Given the description of an element on the screen output the (x, y) to click on. 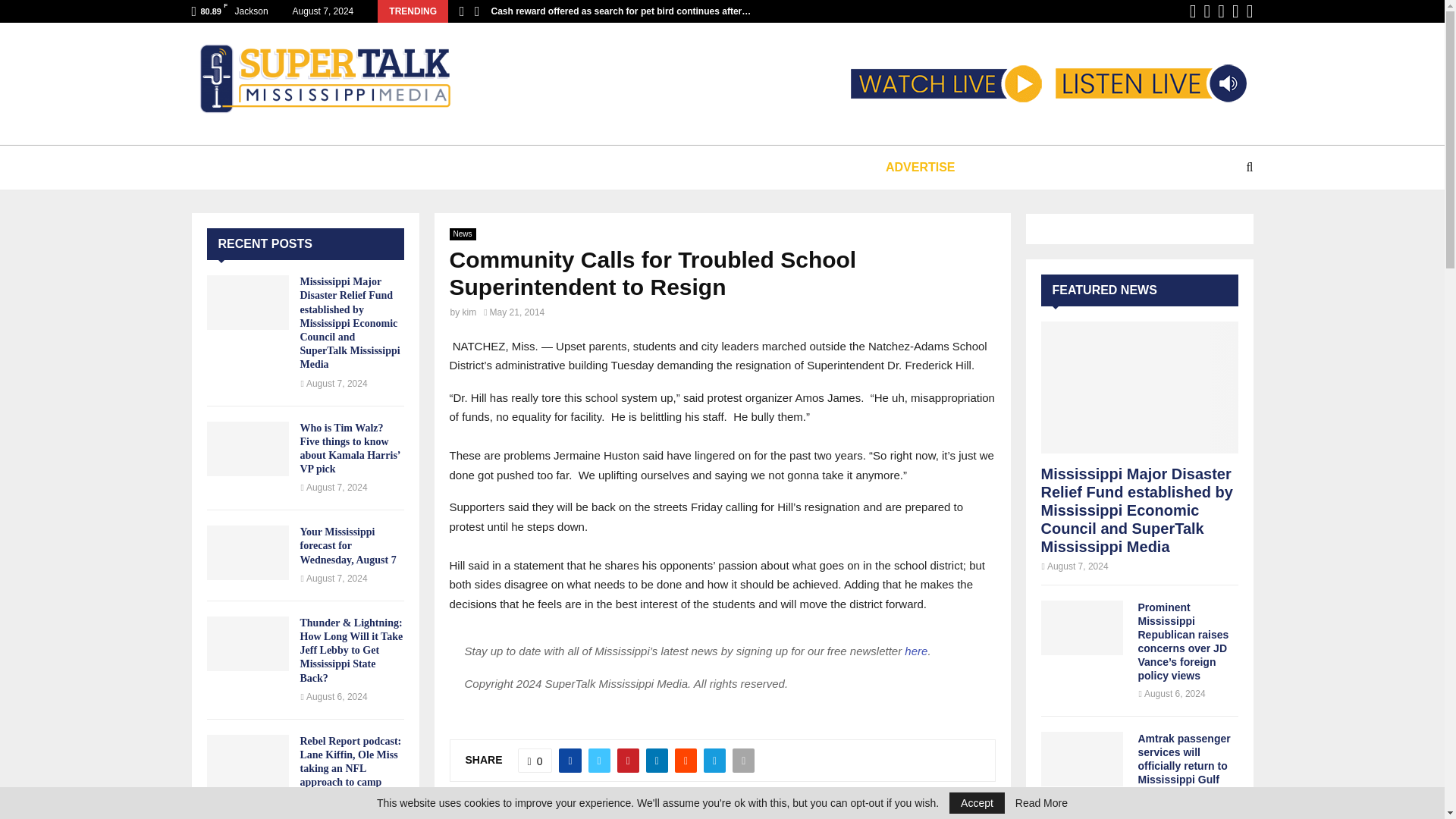
STATIONS (345, 167)
Like (535, 760)
TUNE IN (255, 167)
